Given the description of an element on the screen output the (x, y) to click on. 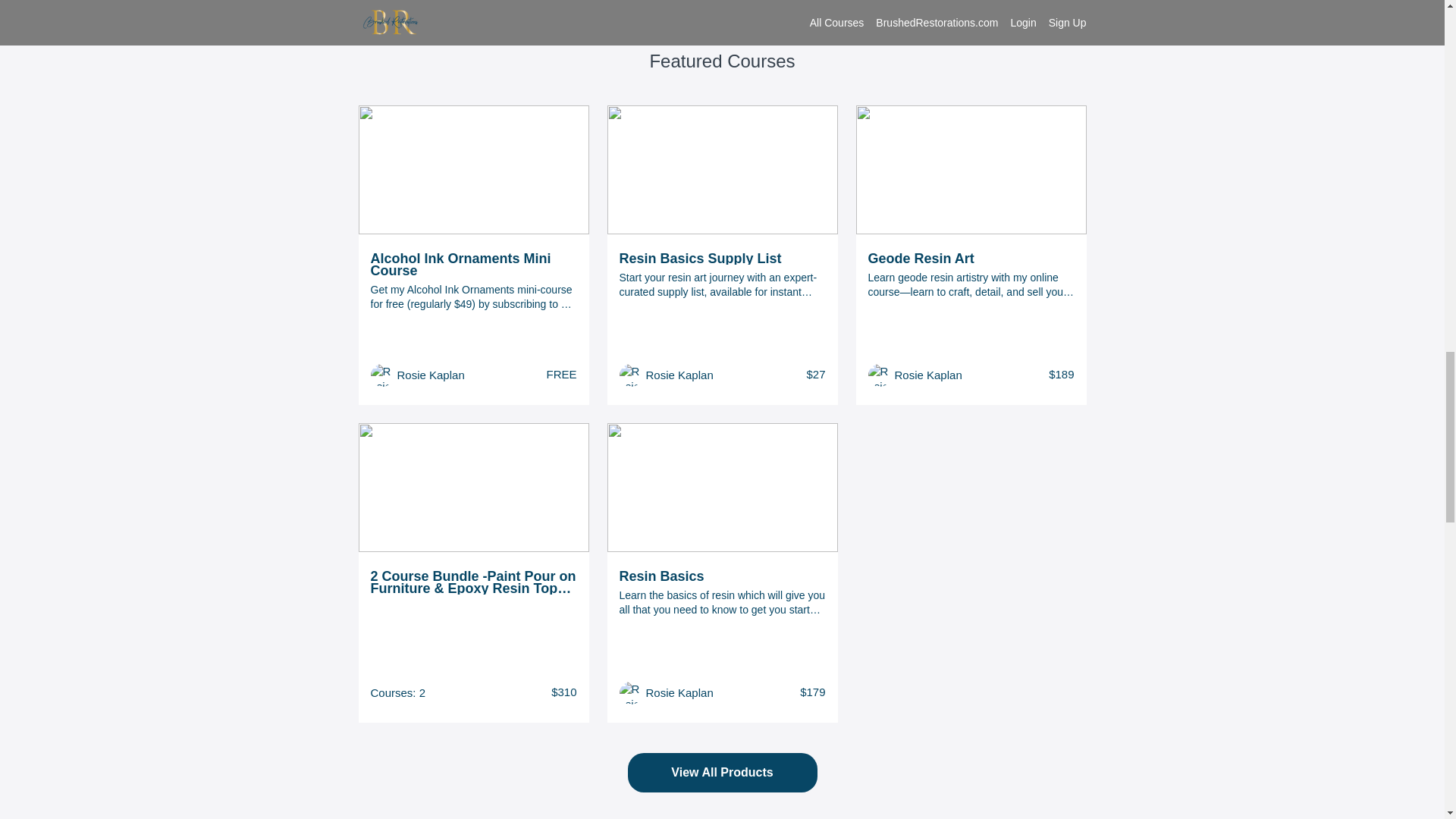
View All Products (721, 773)
Geode Resin Art (970, 258)
Rosie Kaplan (928, 374)
Resin Basics  (721, 576)
Rosie Kaplan (430, 374)
Alcohol Ink Ornaments Mini Course (472, 264)
View All Products (721, 772)
Rosie Kaplan (679, 692)
